Given the description of an element on the screen output the (x, y) to click on. 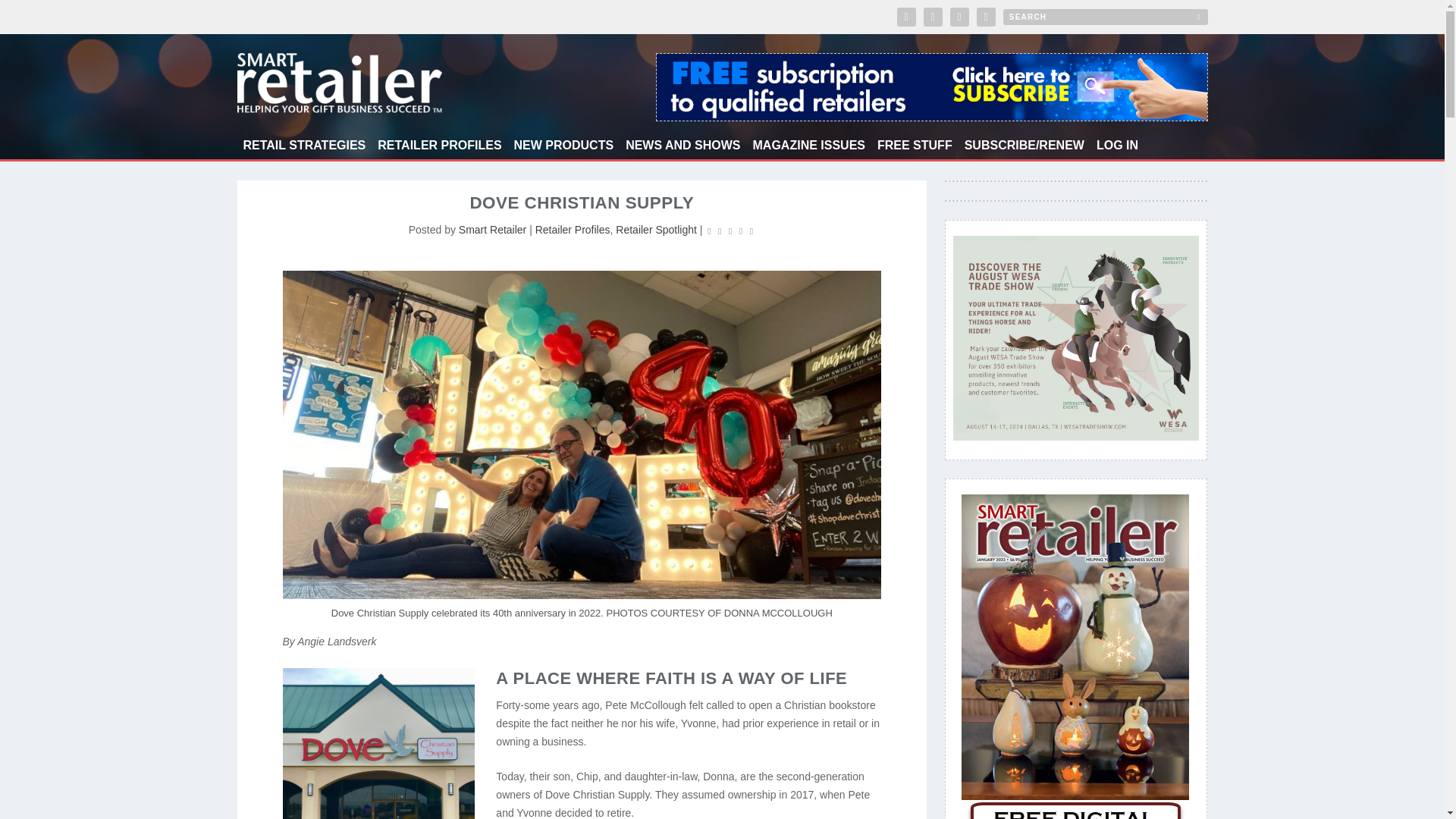
Posts by Smart Retailer (491, 229)
NEWS AND SHOWS (682, 148)
Retailer Spotlight (656, 229)
Rating: 0.00 (729, 230)
NEW PRODUCTS (563, 148)
Search for: (1105, 17)
RETAIL STRATEGIES (304, 148)
RETAILER PROFILES (438, 148)
LOG IN (1117, 148)
MAGAZINE ISSUES (808, 148)
FREE STUFF (914, 148)
Smart Retailer (491, 229)
Retailer Profiles (572, 229)
